Given the description of an element on the screen output the (x, y) to click on. 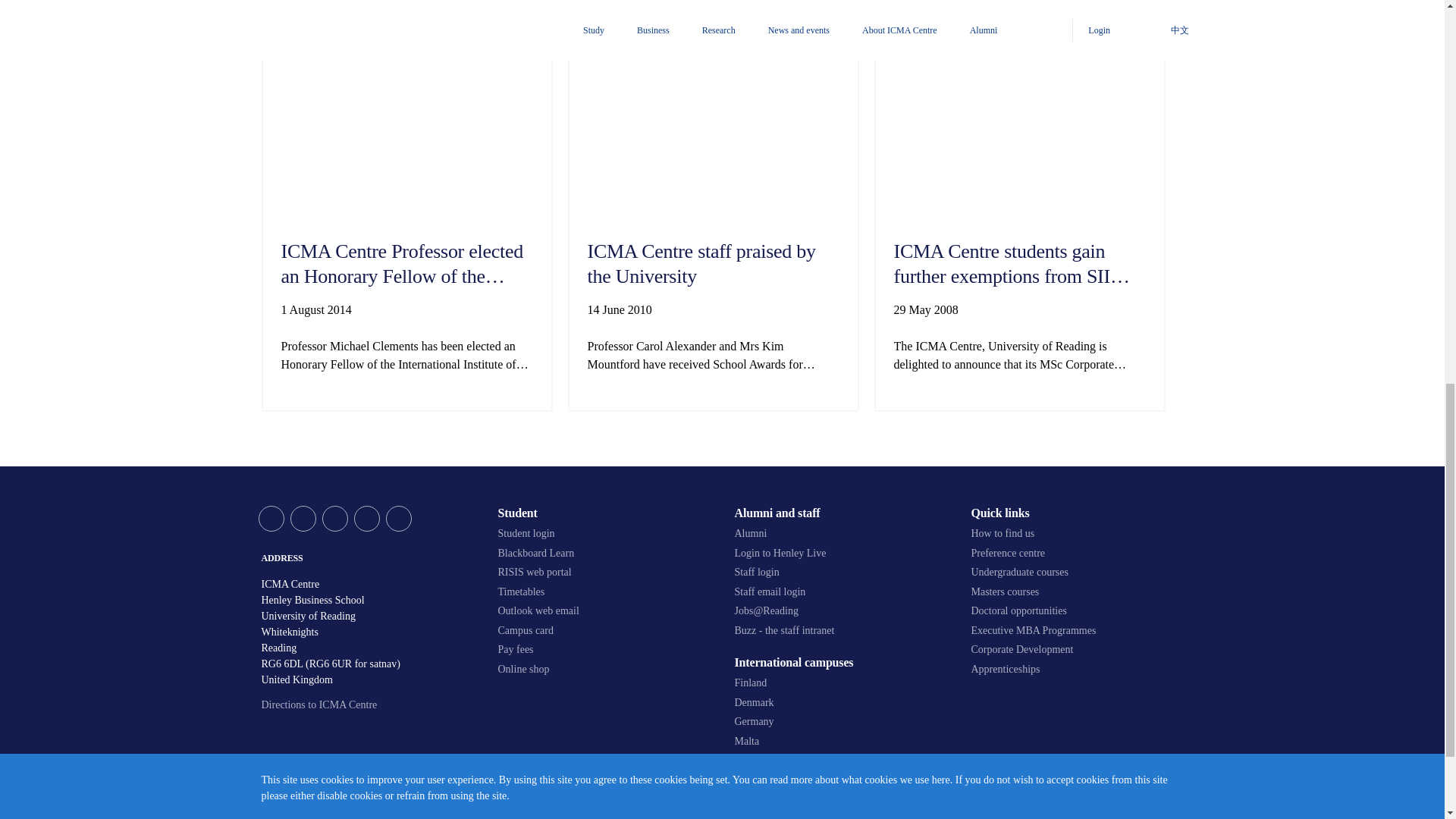
Facebook (302, 518)
Linkedin (365, 518)
RISIS web portal (603, 572)
Staff email login (839, 591)
Instagram (397, 518)
Campus card (603, 631)
Staff login (839, 572)
YouTube (334, 518)
Buzz - the staff intranet (839, 631)
Pay fees (603, 649)
